Given the description of an element on the screen output the (x, y) to click on. 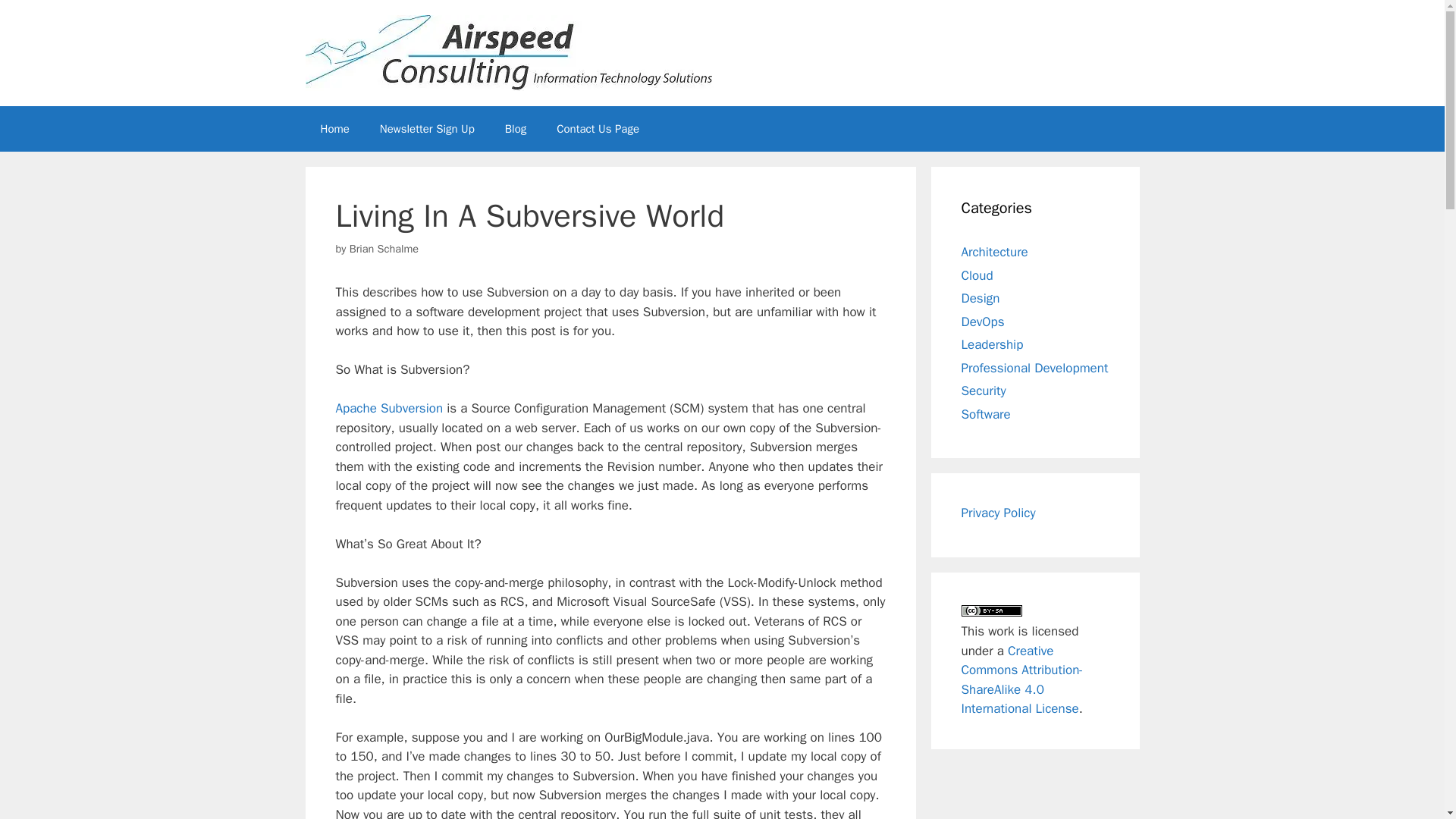
Apache Subversion (388, 408)
Cloud (976, 274)
Leadership (991, 344)
Brian Schalme (384, 248)
Contact Us Page (597, 128)
Newsletter Sign Up (427, 128)
Professional Development (1034, 367)
Blog (515, 128)
Architecture (993, 252)
DevOps (982, 321)
Design (980, 298)
Home (334, 128)
View all posts by Brian Schalme (384, 248)
